Given the description of an element on the screen output the (x, y) to click on. 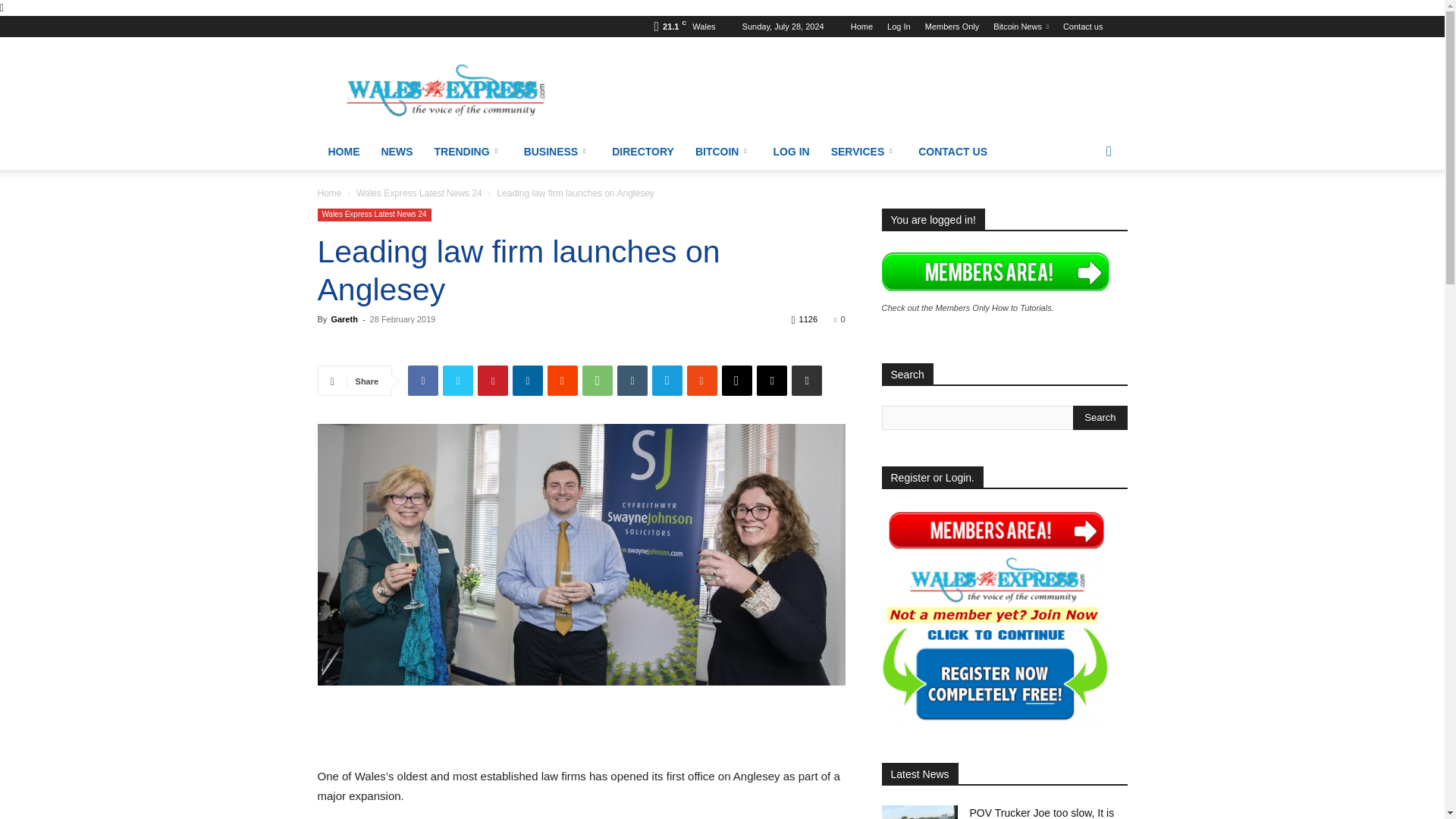
Search (1099, 417)
